Given the description of an element on the screen output the (x, y) to click on. 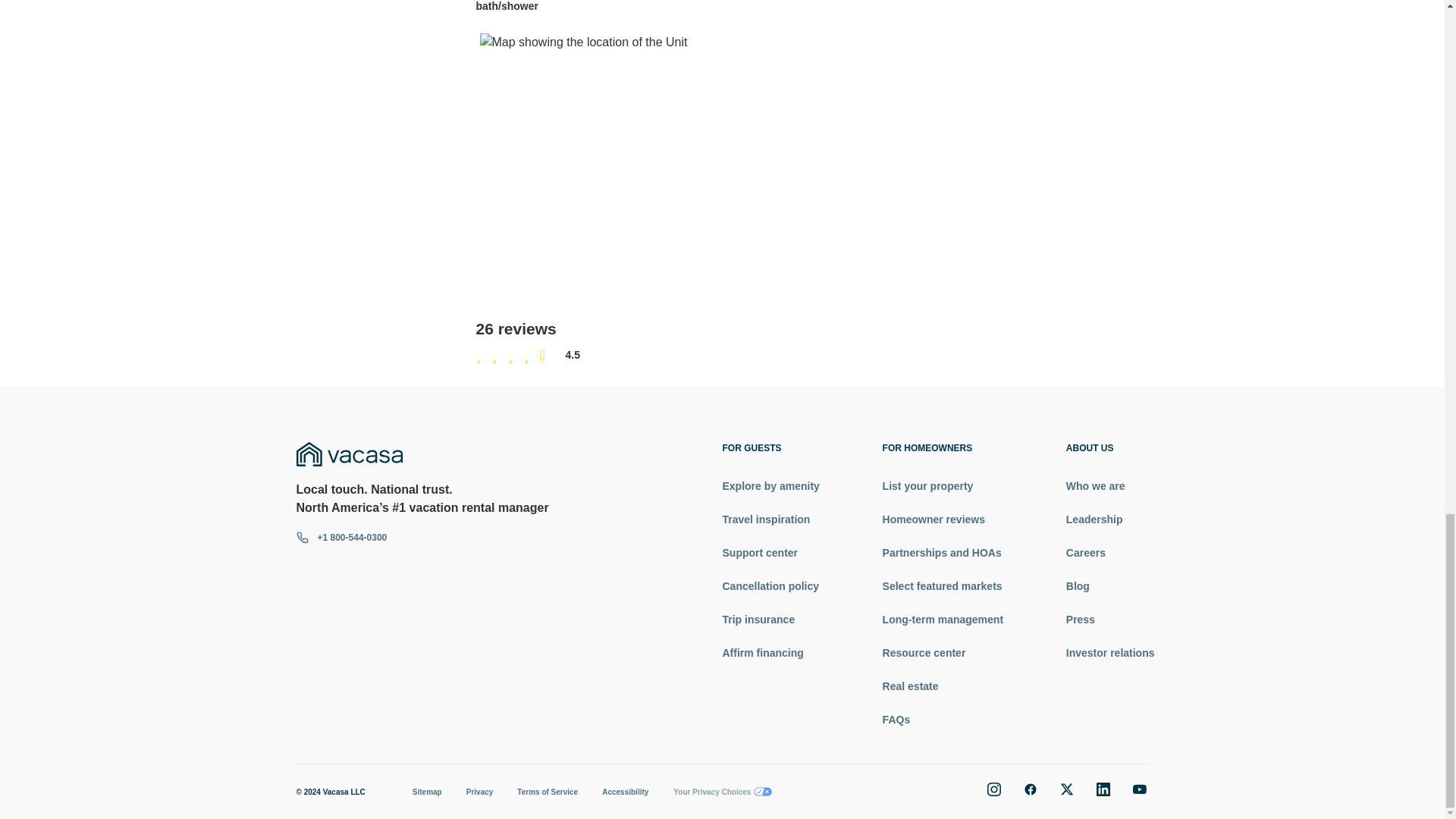
Long-term management (942, 619)
Cancellation policy (770, 585)
Careers (1109, 552)
Select featured markets (942, 585)
Explore by amenity (770, 485)
Affirm financing (770, 652)
Partnerships and HOAs (942, 552)
Sitemap (427, 791)
Resource center (942, 652)
Terms of Service (547, 791)
